Given the description of an element on the screen output the (x, y) to click on. 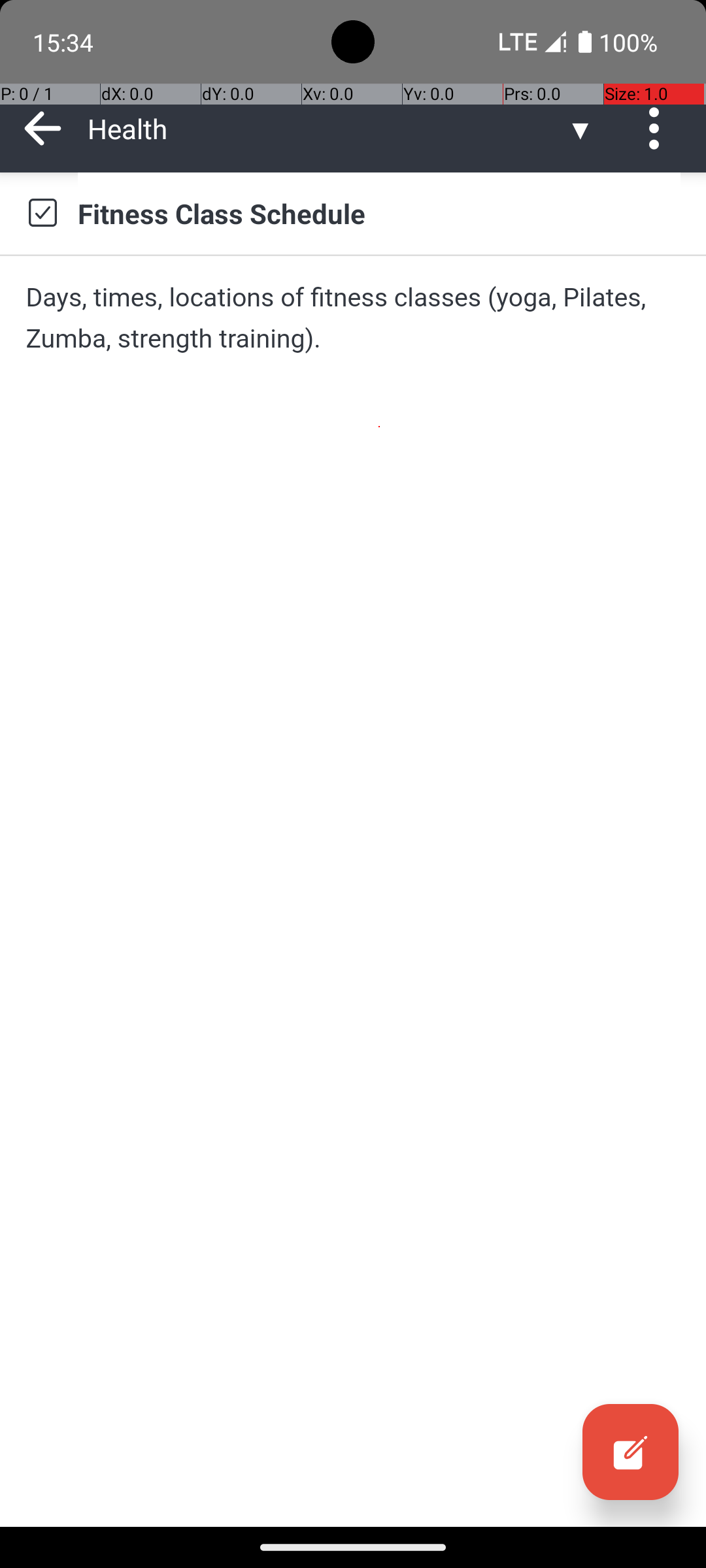
Days, times, locations of fitness classes (yoga, Pilates, Zumba, strength training). Element type: android.widget.TextView (352, 317)
